Given the description of an element on the screen output the (x, y) to click on. 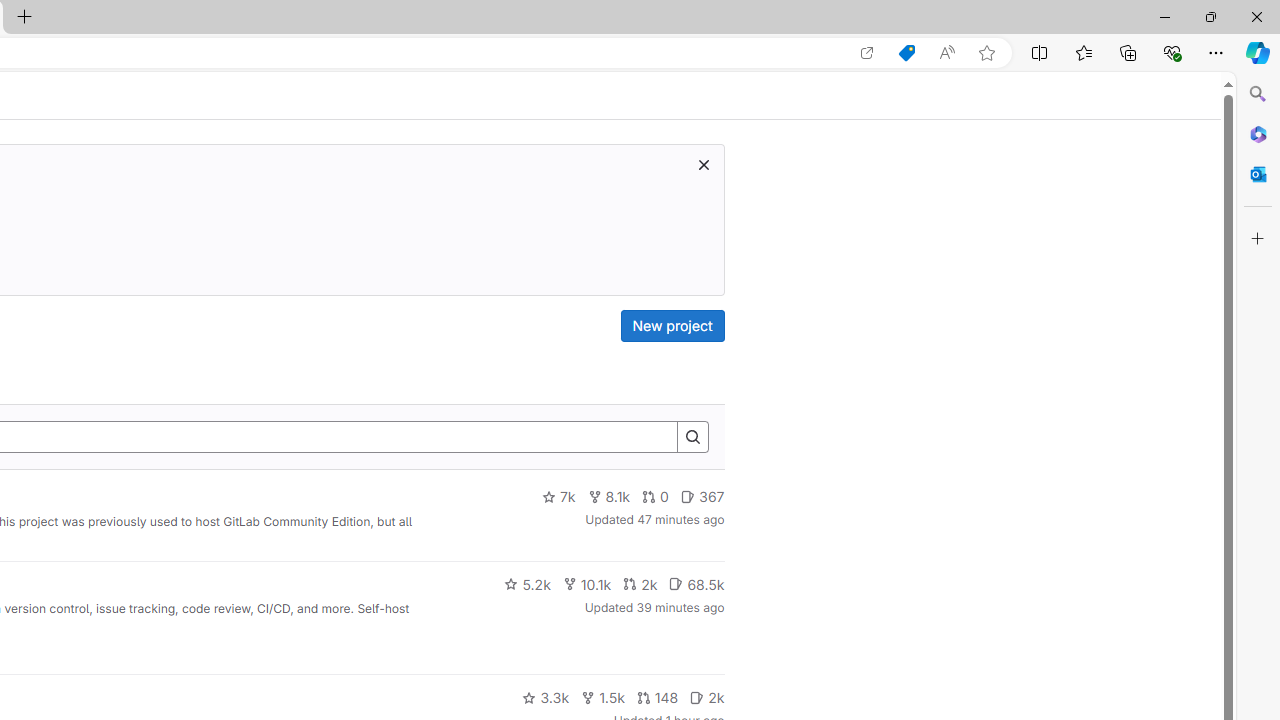
10.1k (586, 583)
2k (706, 697)
